Given the description of an element on the screen output the (x, y) to click on. 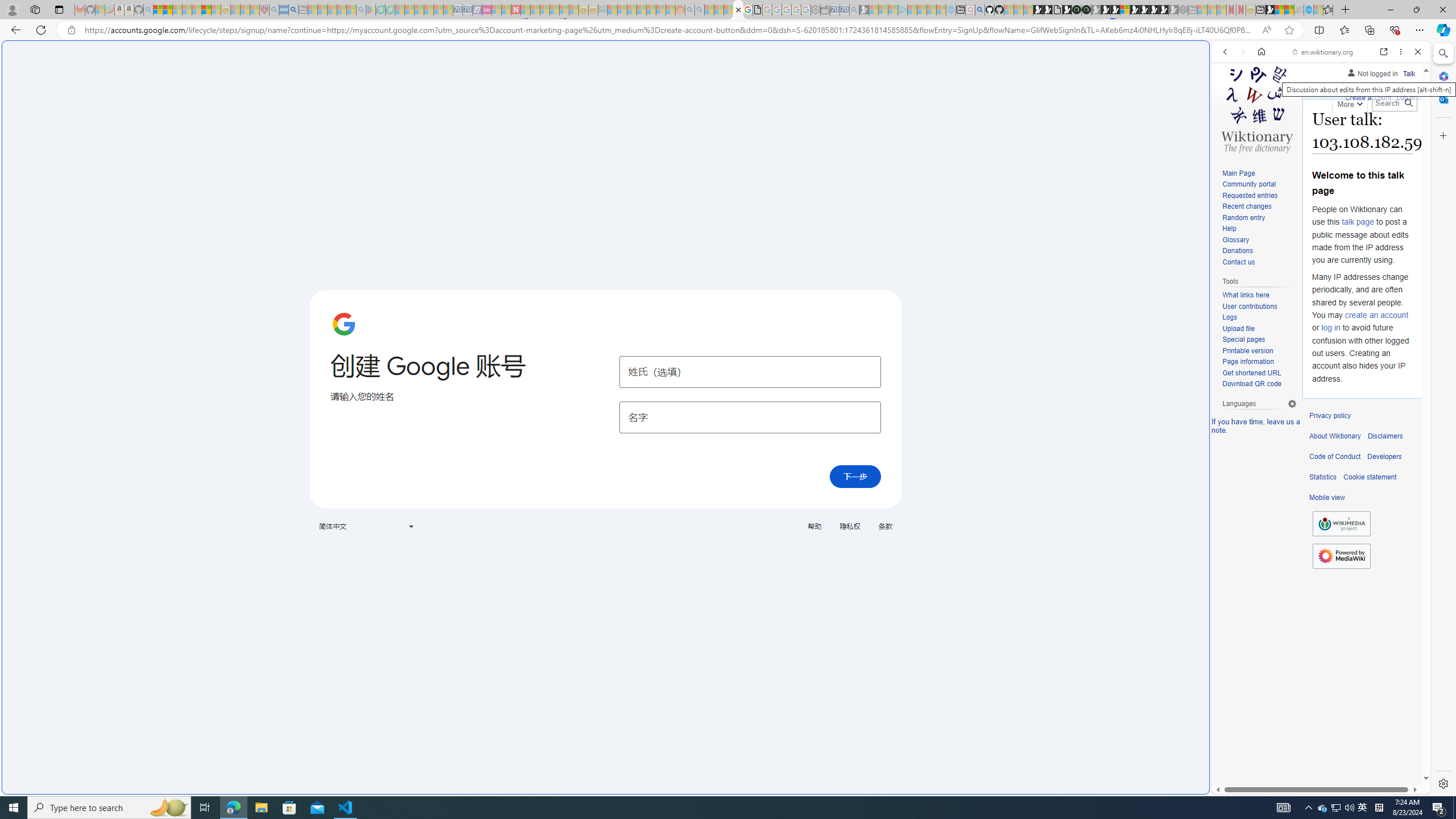
Go (1408, 102)
Requested entries (1249, 194)
Random entry (1243, 216)
Donations (1259, 251)
